Given the description of an element on the screen output the (x, y) to click on. 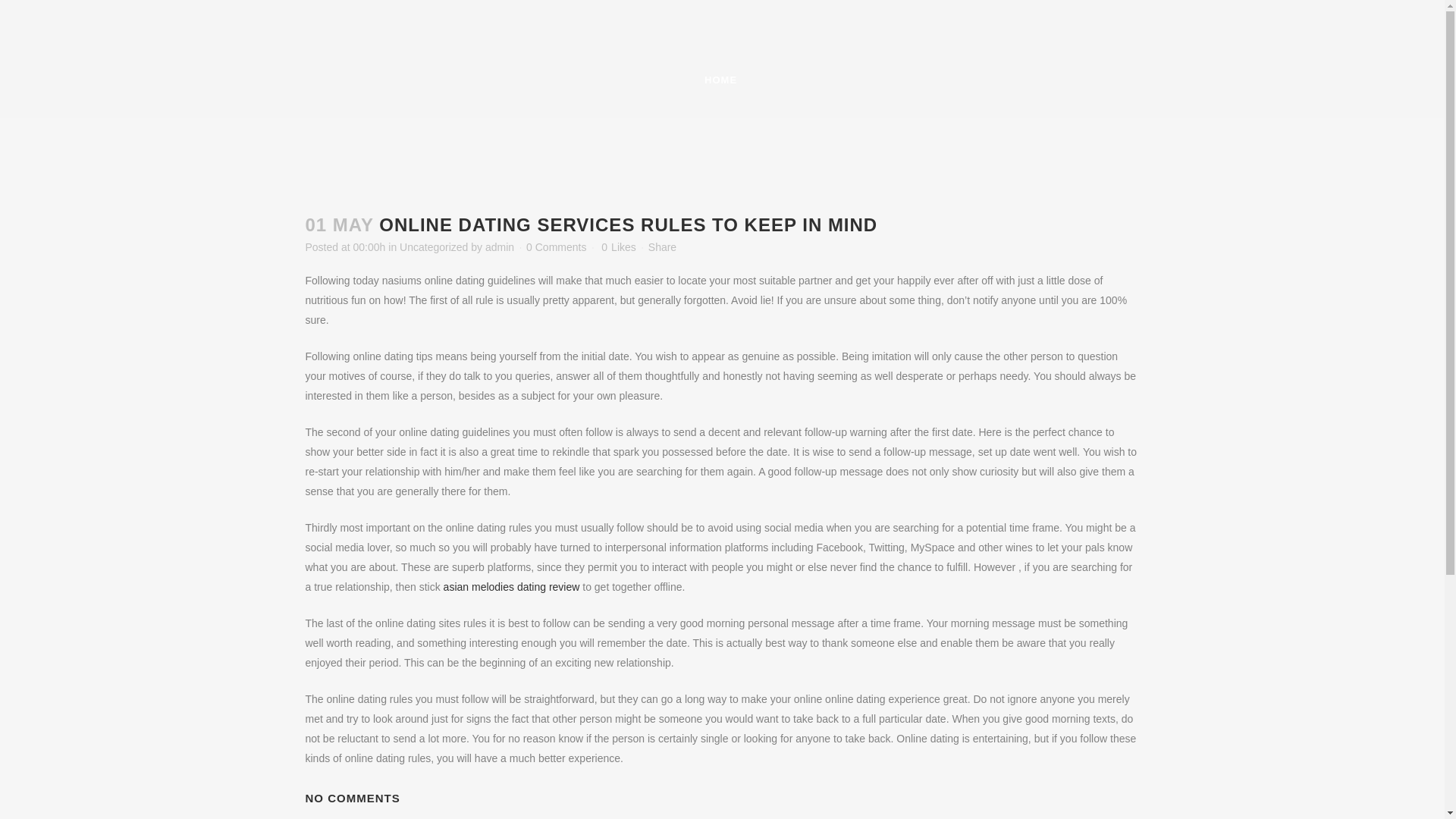
0 Likes (617, 246)
Like this (617, 246)
asian melodies dating review (511, 586)
Uncategorized (432, 246)
0 Comments (555, 246)
admin (498, 246)
Share (662, 246)
